Given the description of an element on the screen output the (x, y) to click on. 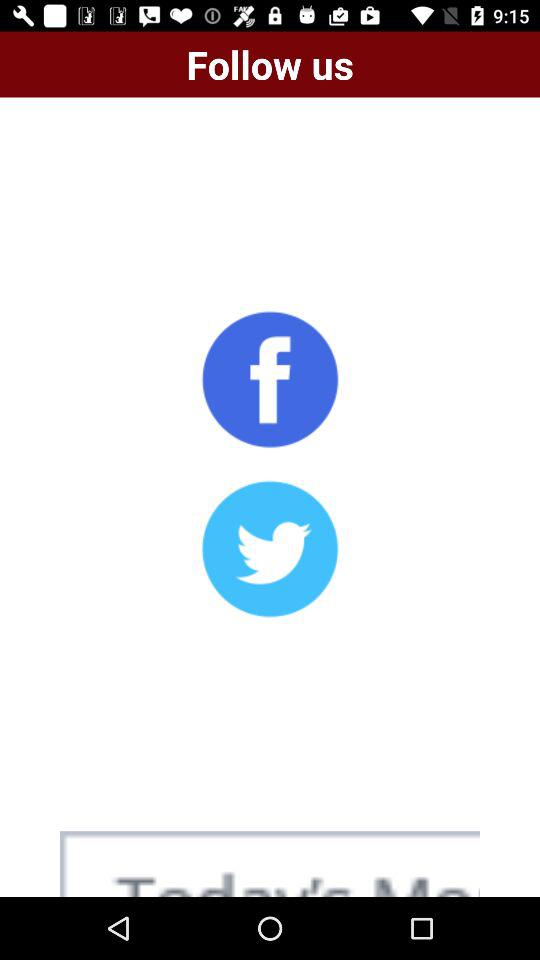
share on facebook (270, 379)
